Given the description of an element on the screen output the (x, y) to click on. 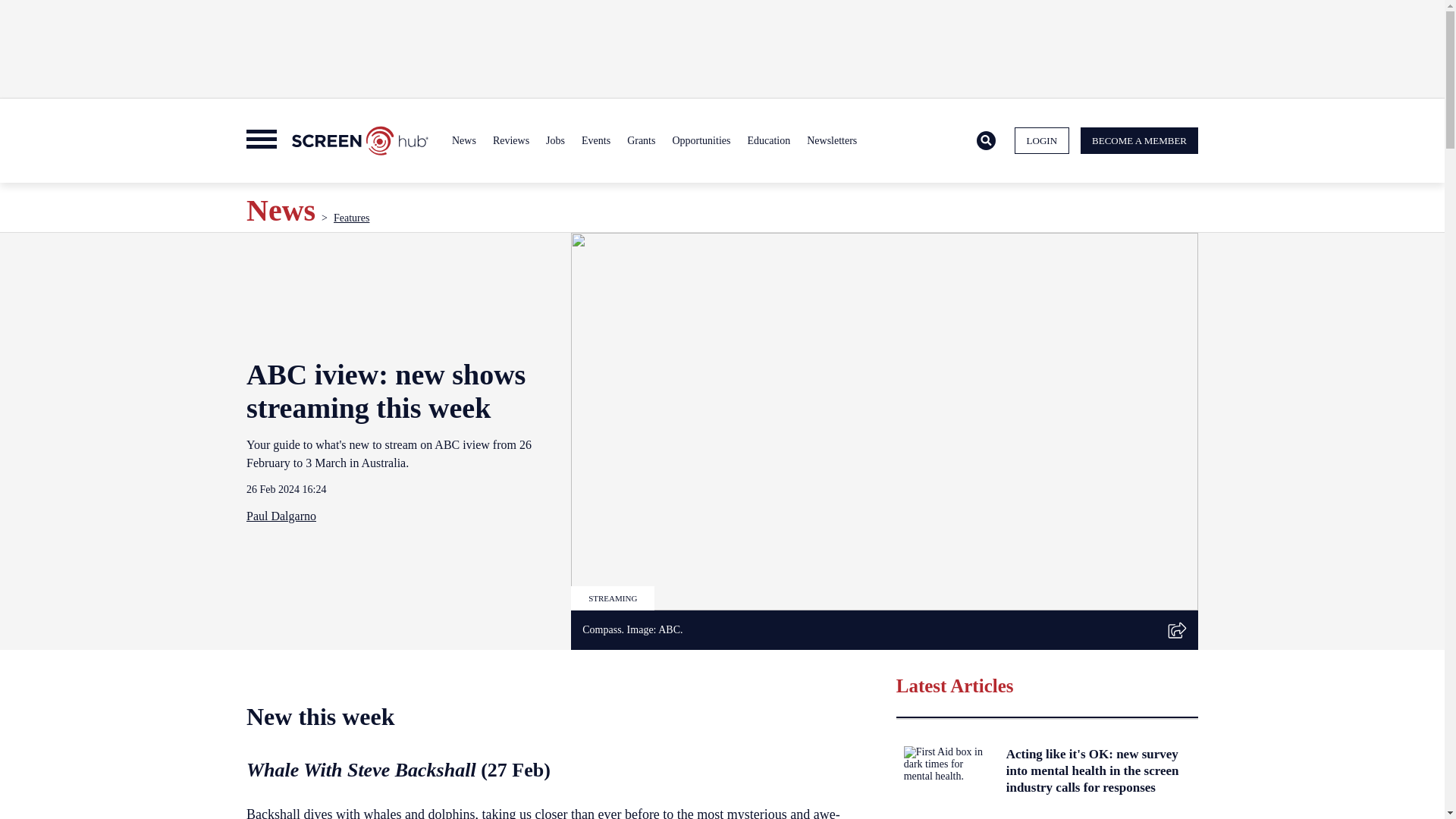
BECOME A MEMBER (1139, 140)
Search Icon (985, 140)
Grants (641, 140)
Opportunities (700, 140)
Events (595, 140)
Reviews (510, 140)
News (464, 140)
Search Icon (985, 140)
Jobs (555, 140)
Newsletters (832, 140)
Education (768, 140)
LOGIN (1041, 140)
